Given the description of an element on the screen output the (x, y) to click on. 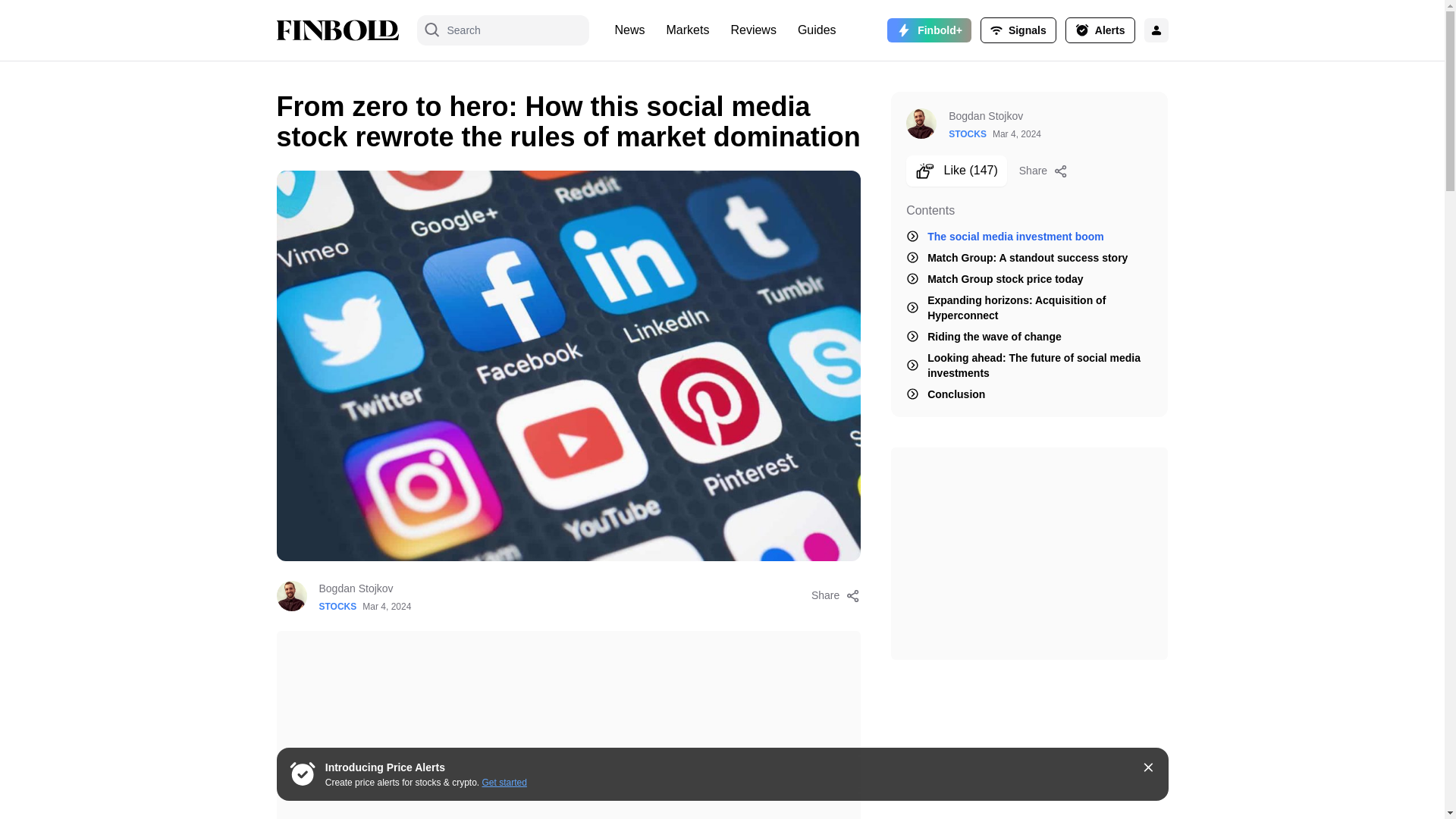
Markets (688, 29)
Reviews (752, 29)
Guides (817, 29)
Account (1018, 30)
Advertisement (568, 724)
Alerts (1100, 30)
Signals (1018, 30)
Advertisement (1029, 553)
News (629, 29)
Finbold (336, 29)
Account (1100, 30)
